Given the description of an element on the screen output the (x, y) to click on. 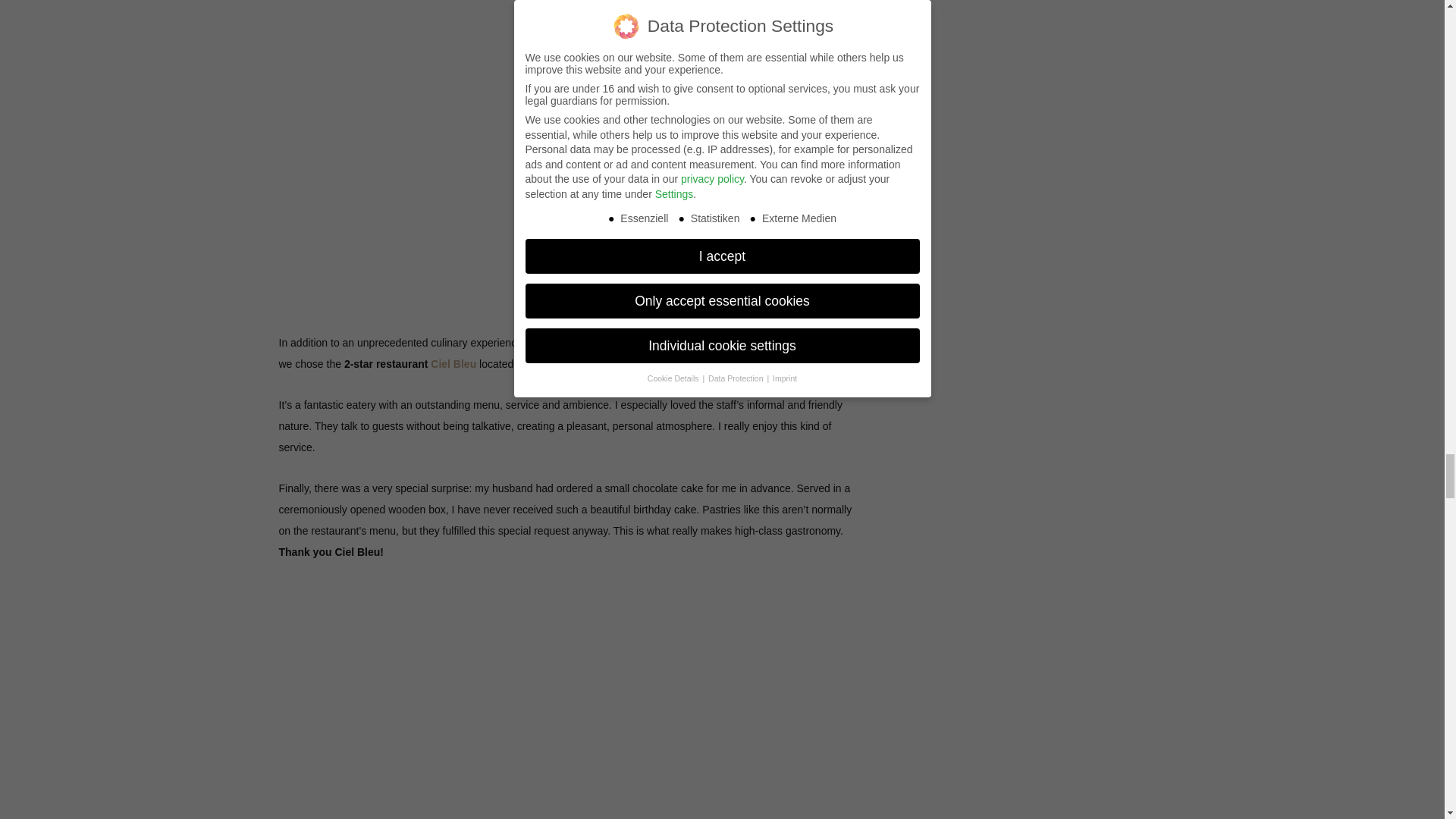
Ciel Bleu (453, 363)
